Given the description of an element on the screen output the (x, y) to click on. 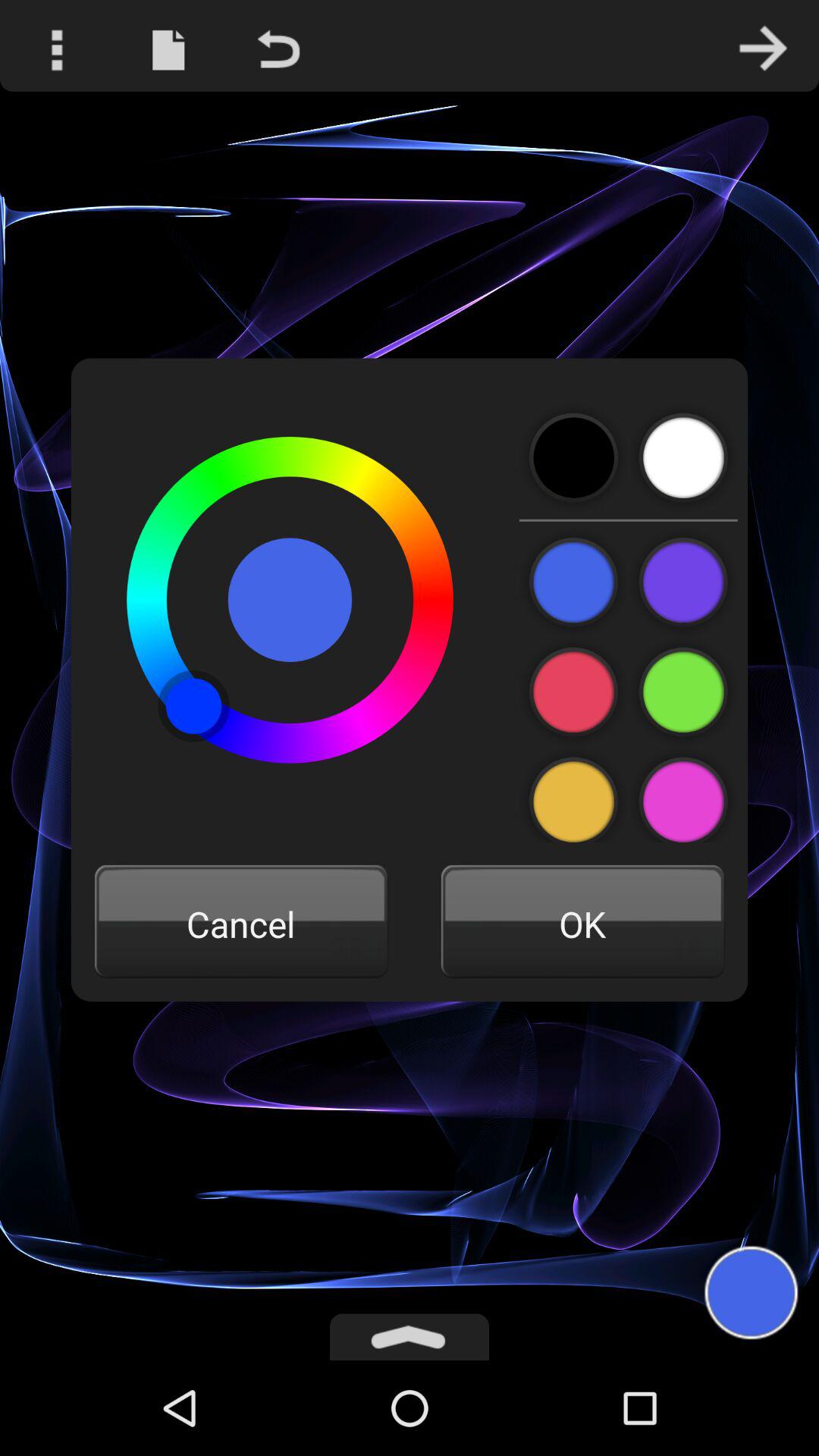
go to back (574, 458)
